Given the description of an element on the screen output the (x, y) to click on. 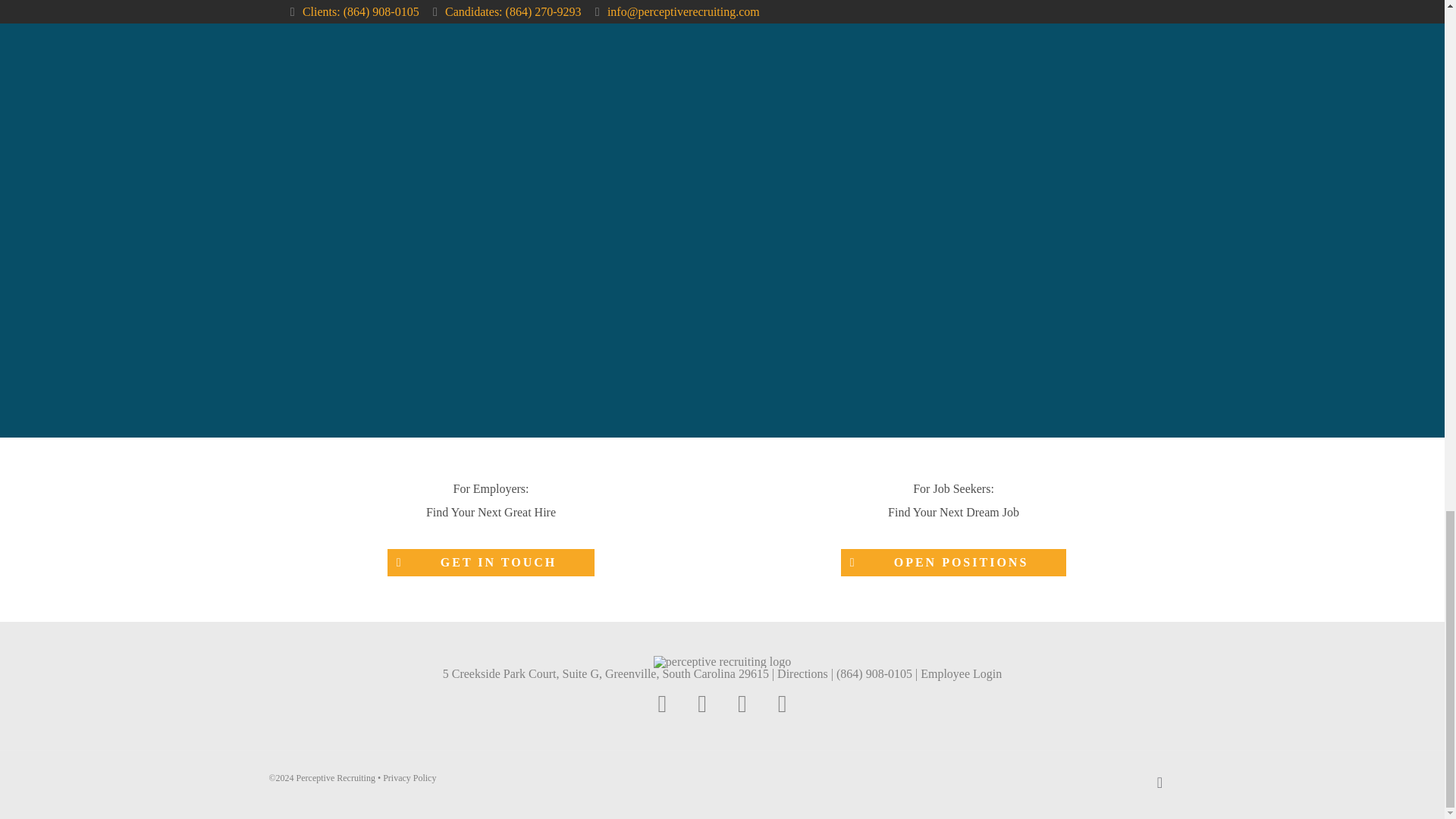
Privacy Policy (408, 777)
OPEN POSITIONS (954, 562)
Directions (802, 673)
Employee Login (960, 673)
GET IN TOUCH (490, 562)
